Given the description of an element on the screen output the (x, y) to click on. 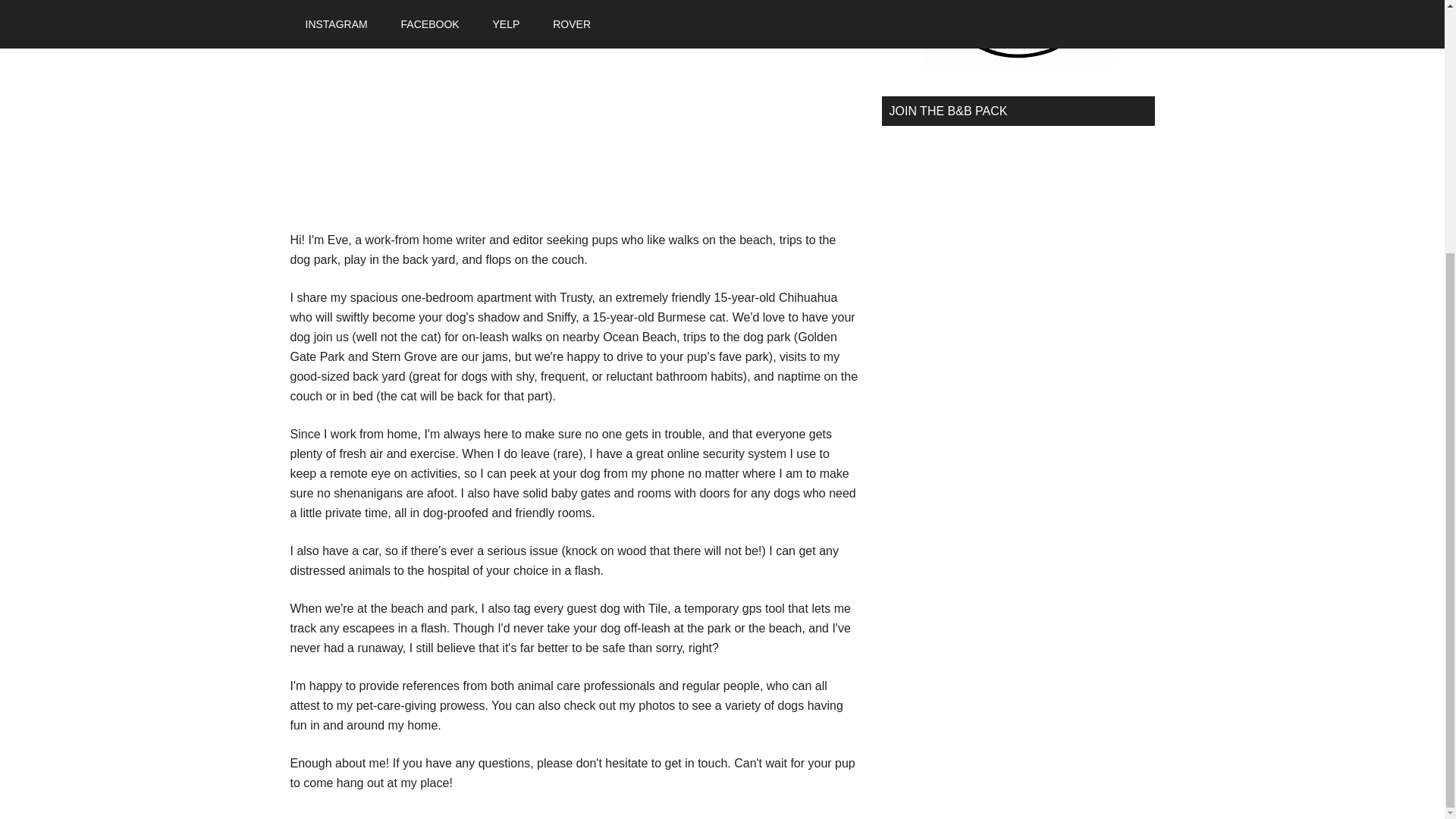
Eve (338, 239)
